Given the description of an element on the screen output the (x, y) to click on. 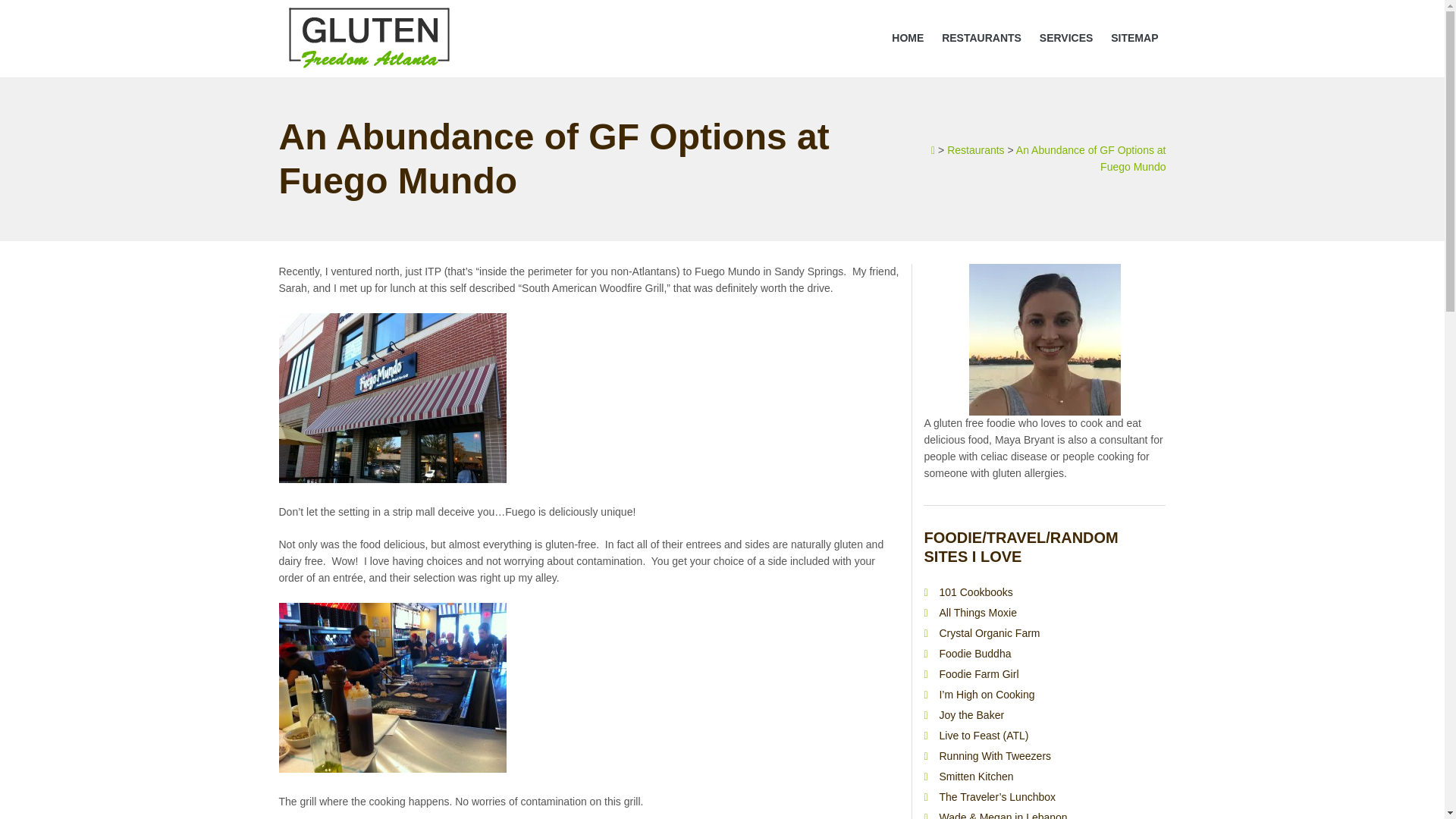
Smitten Kitchen (976, 776)
Foodie Farm Girl (978, 674)
Foodie Buddha (974, 653)
Joy the Baker (971, 715)
Running With Tweezers (995, 756)
SERVICES (1066, 38)
HOME (907, 38)
Restaurants (975, 150)
101 Cookbooks (975, 592)
Crystal Organic Farm (989, 633)
Go to the Restaurants category archives. (975, 150)
Gluten Freedom Atlanta (369, 68)
All Things Moxie (977, 612)
RESTAURANTS (981, 38)
SITEMAP (1134, 38)
